Given the description of an element on the screen output the (x, y) to click on. 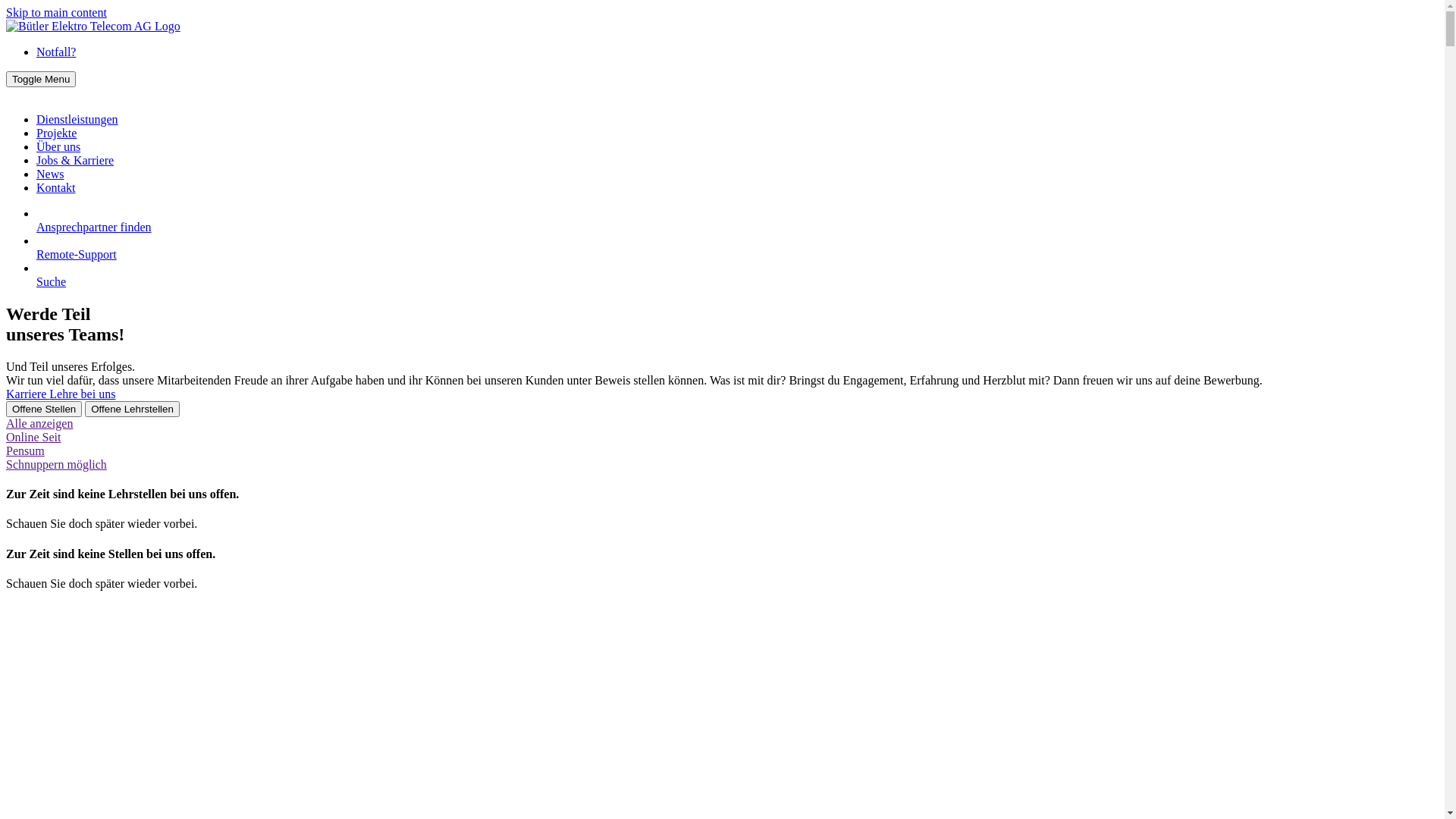
Projekte Element type: text (56, 132)
Ansprechpartner finden Element type: text (737, 220)
Offene Stellen Element type: text (43, 409)
Skip to main content Element type: text (56, 12)
Alle anzeigen Element type: text (39, 423)
Remote-Support Element type: text (737, 247)
Dienstleistungen Element type: text (77, 118)
Suche Element type: text (737, 274)
Lehre bei uns Element type: text (82, 393)
Karriere Element type: text (27, 393)
Online Seit
Pensum Element type: text (722, 444)
Toggle Menu Element type: text (40, 79)
Jobs & Karriere Element type: text (74, 159)
Kontakt Element type: text (55, 187)
News Element type: text (49, 173)
Offene Lehrstellen Element type: text (131, 409)
Notfall? Element type: text (55, 51)
